Given the description of an element on the screen output the (x, y) to click on. 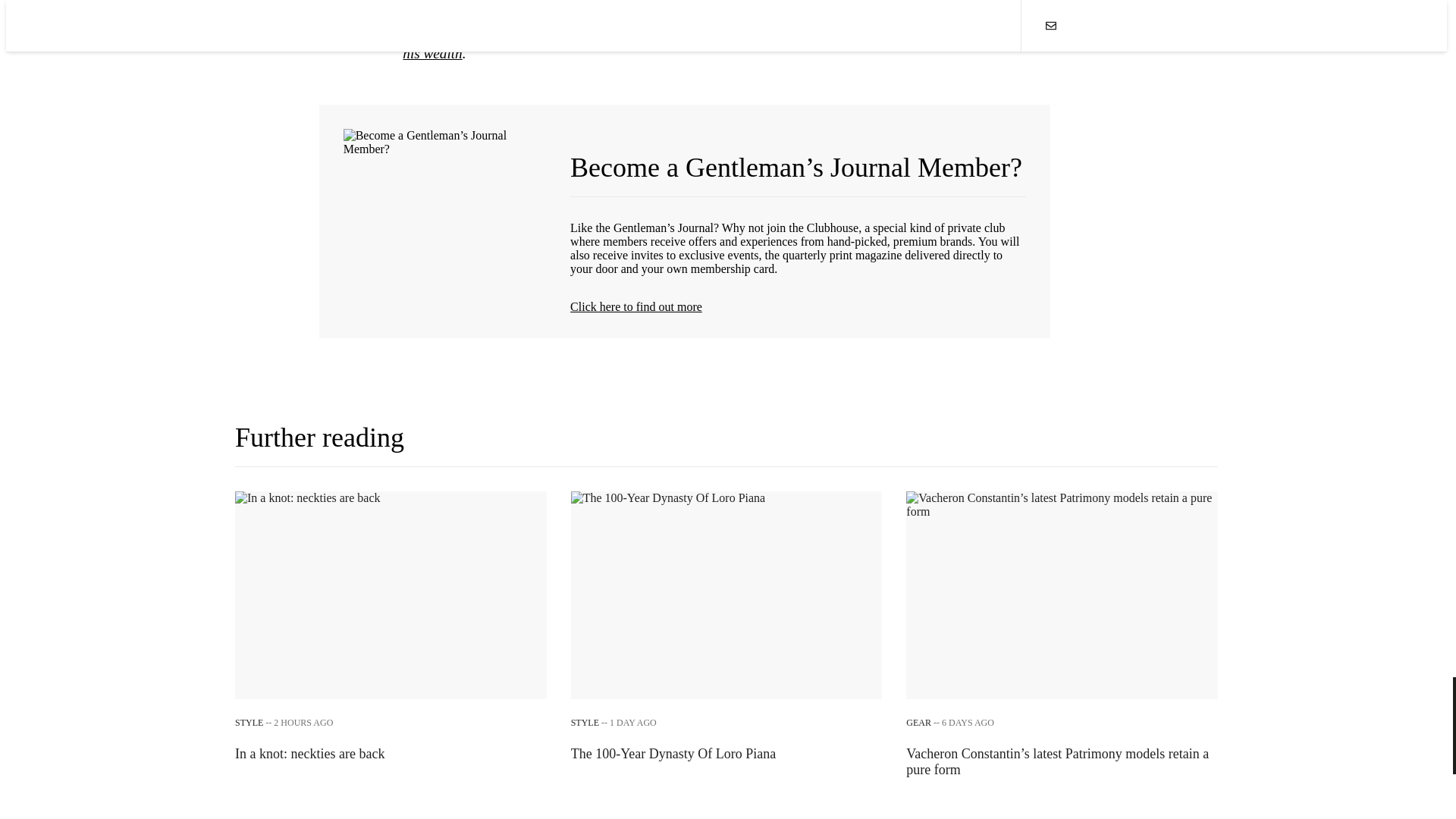
Click here to find out more (798, 306)
Roman Abramovich and how he earned his wealth (390, 634)
